Given the description of an element on the screen output the (x, y) to click on. 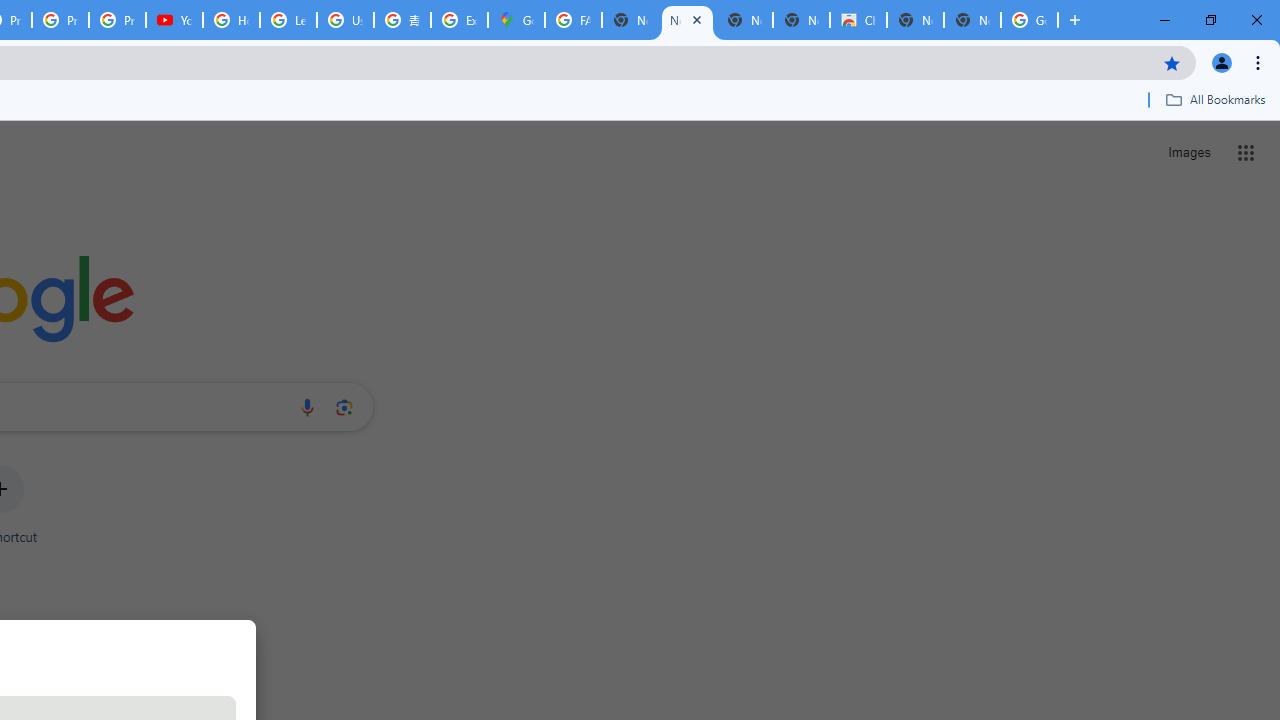
Google Maps (516, 20)
YouTube (174, 20)
Privacy Checkup (60, 20)
